Given the description of an element on the screen output the (x, y) to click on. 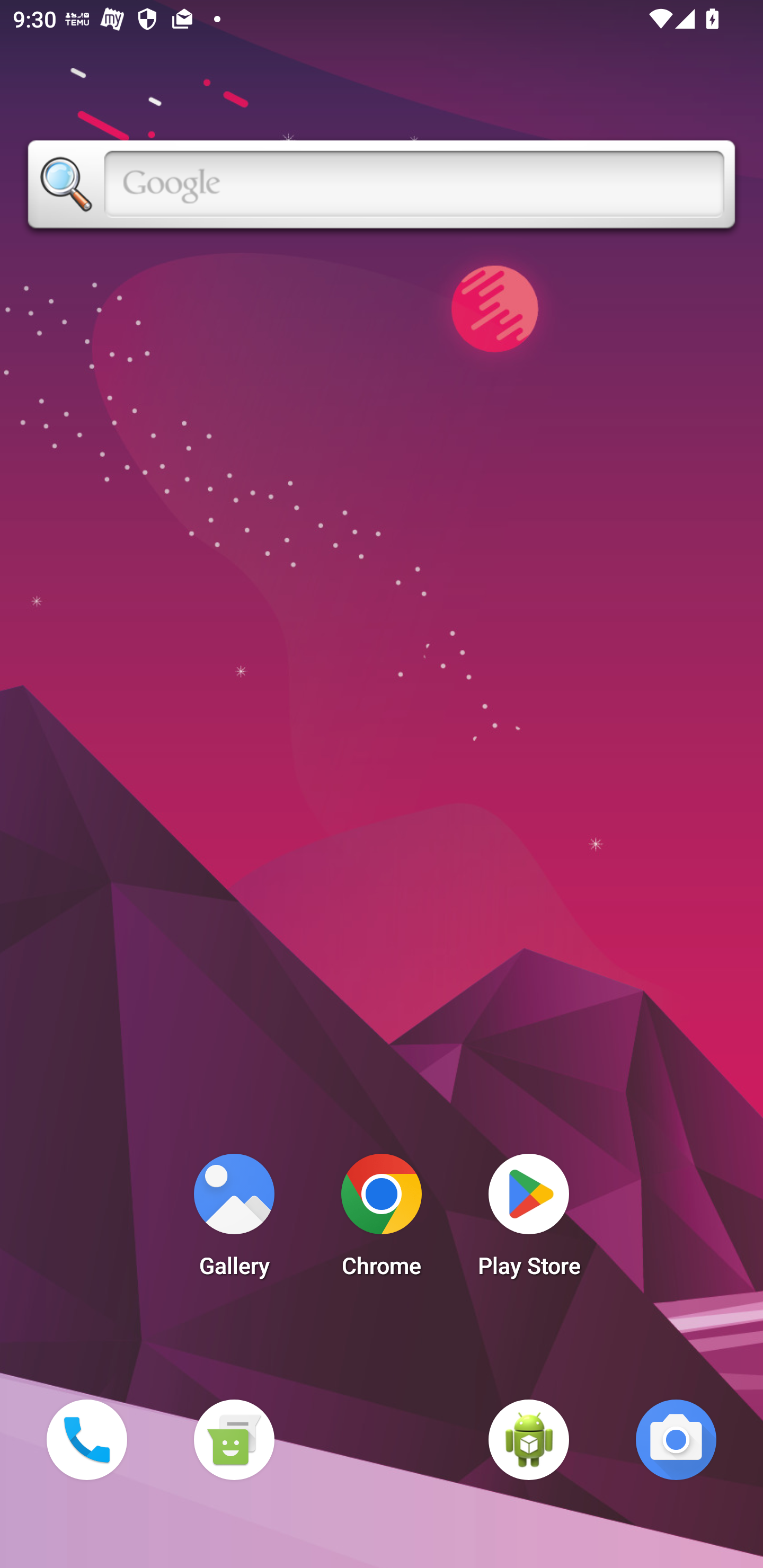
Gallery (233, 1220)
Chrome (381, 1220)
Play Store (528, 1220)
Phone (86, 1439)
Messaging (233, 1439)
WebView Browser Tester (528, 1439)
Camera (676, 1439)
